Given the description of an element on the screen output the (x, y) to click on. 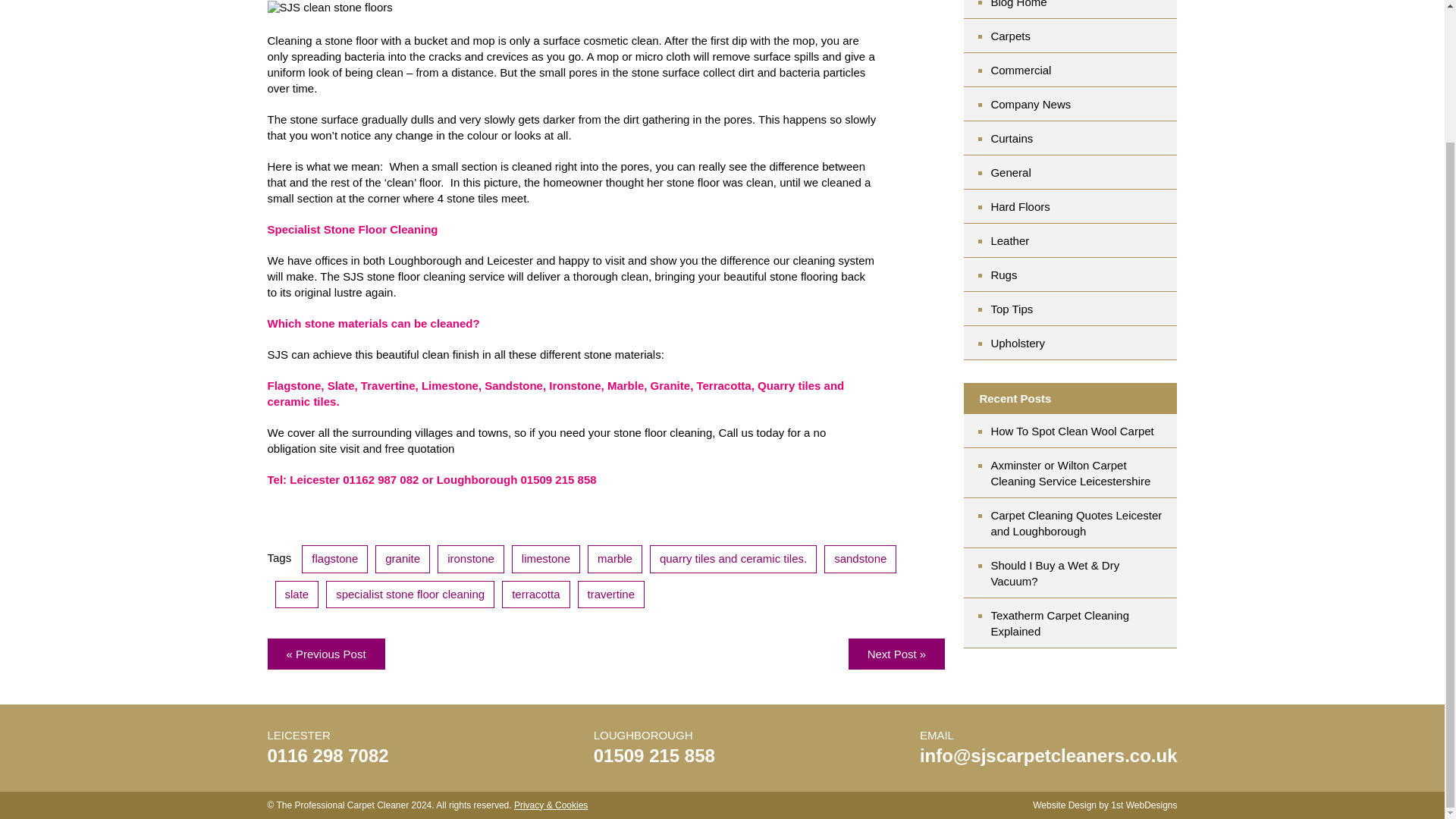
quarry tiles and ceramic tiles. (732, 559)
terracotta (535, 593)
ironstone (470, 559)
Carpets (1083, 35)
limestone (545, 559)
sandstone (860, 559)
travertine (611, 593)
Commercial (1083, 69)
marble (615, 559)
granite (402, 559)
